Given the description of an element on the screen output the (x, y) to click on. 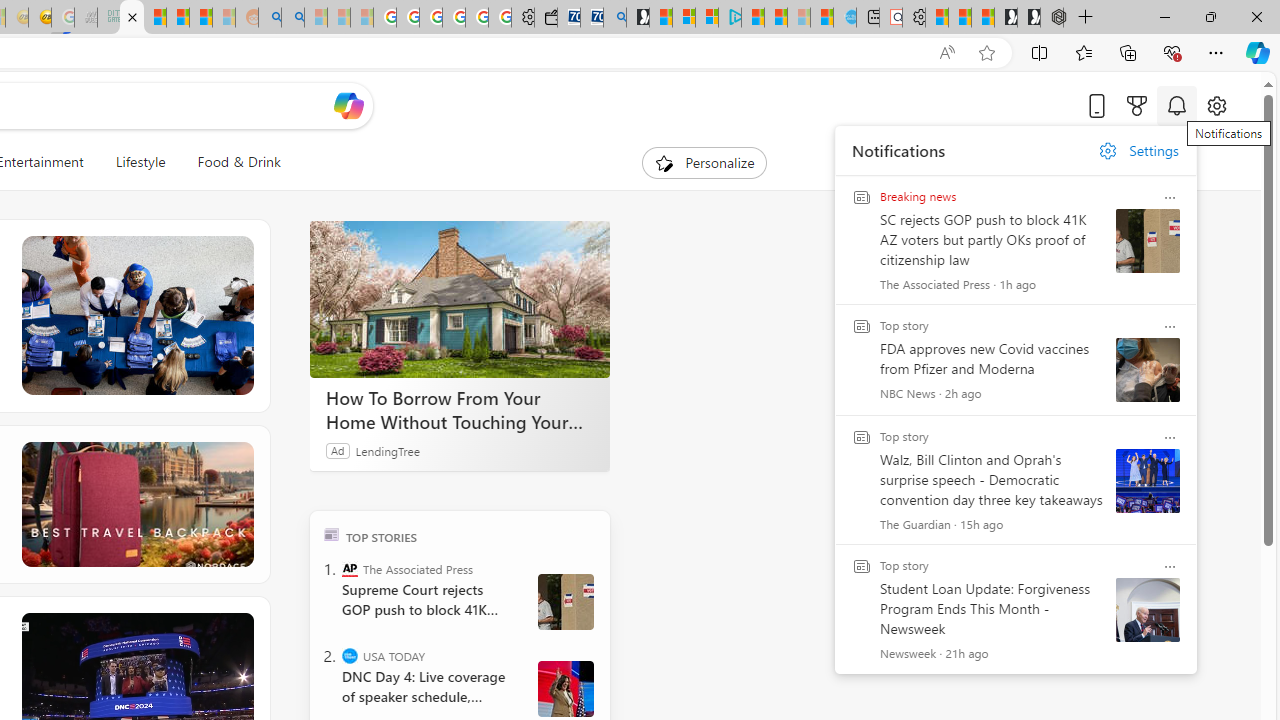
How To Borrow From Your Home Without Touching Your Mortgage (459, 409)
TOP (331, 534)
Notifications (1176, 105)
